Given the description of an element on the screen output the (x, y) to click on. 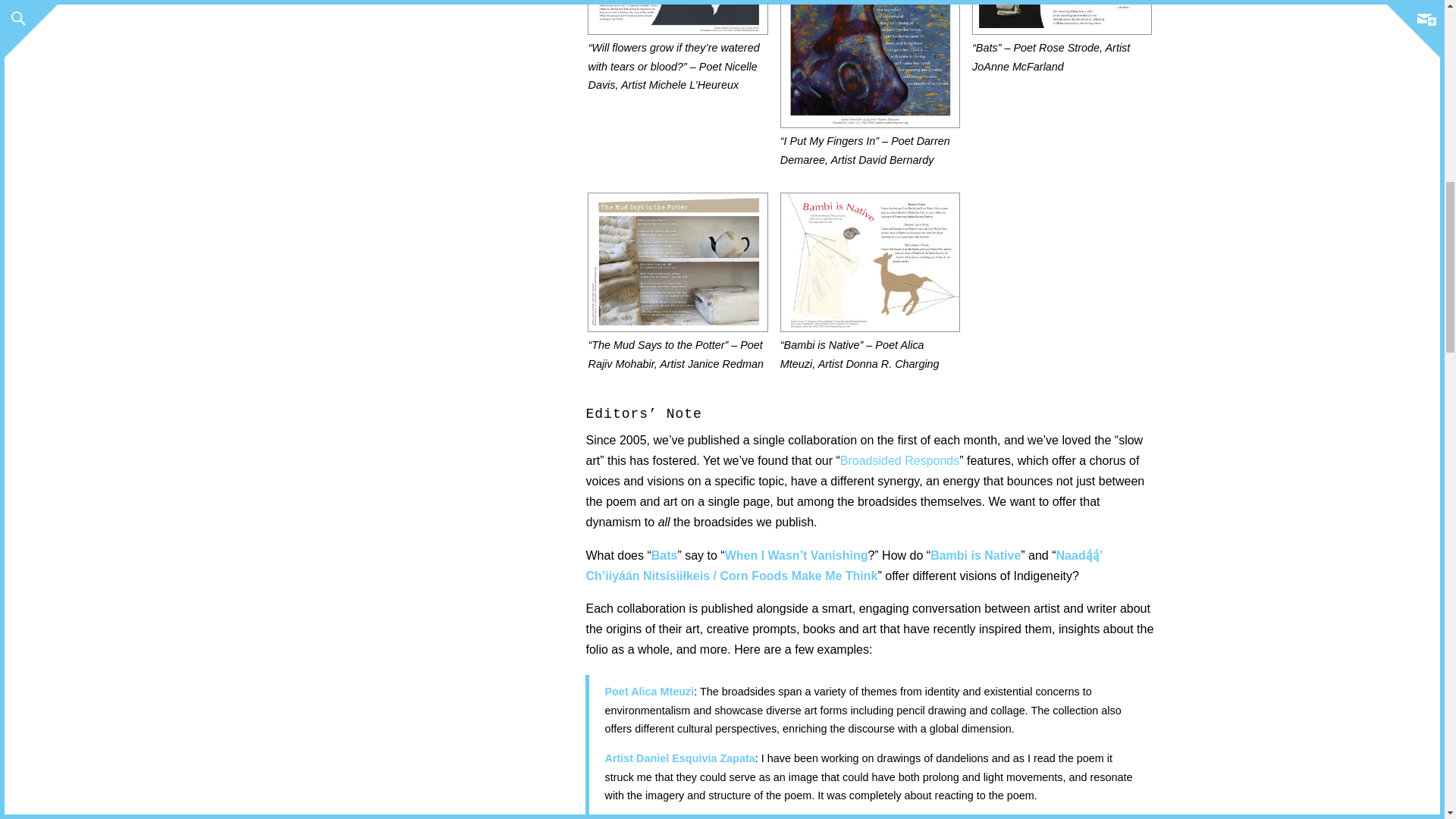
Poet Alica Mteuzi (649, 691)
Bats (664, 554)
Broadsided19.1-IPutMyFingersIn (869, 10)
Bambi is Native (975, 554)
Broadsided Responds (899, 460)
